Given the description of an element on the screen output the (x, y) to click on. 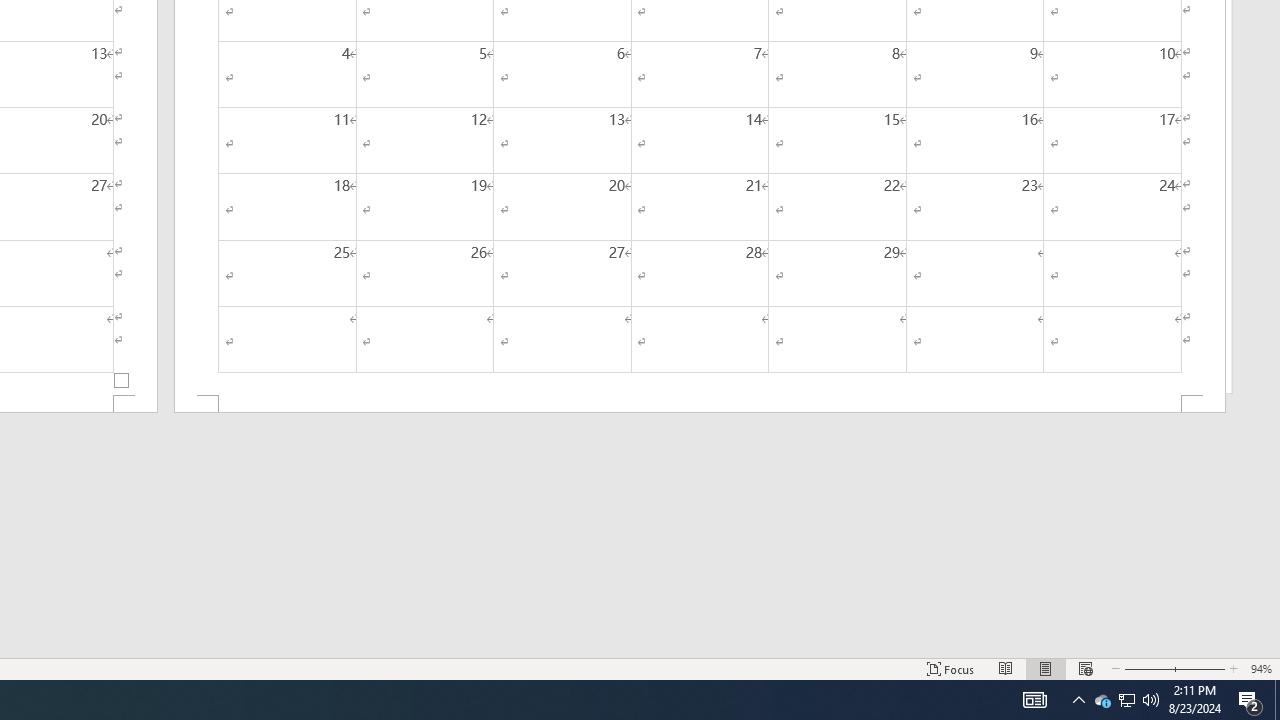
Footer -Section 2- (700, 404)
